Given the description of an element on the screen output the (x, y) to click on. 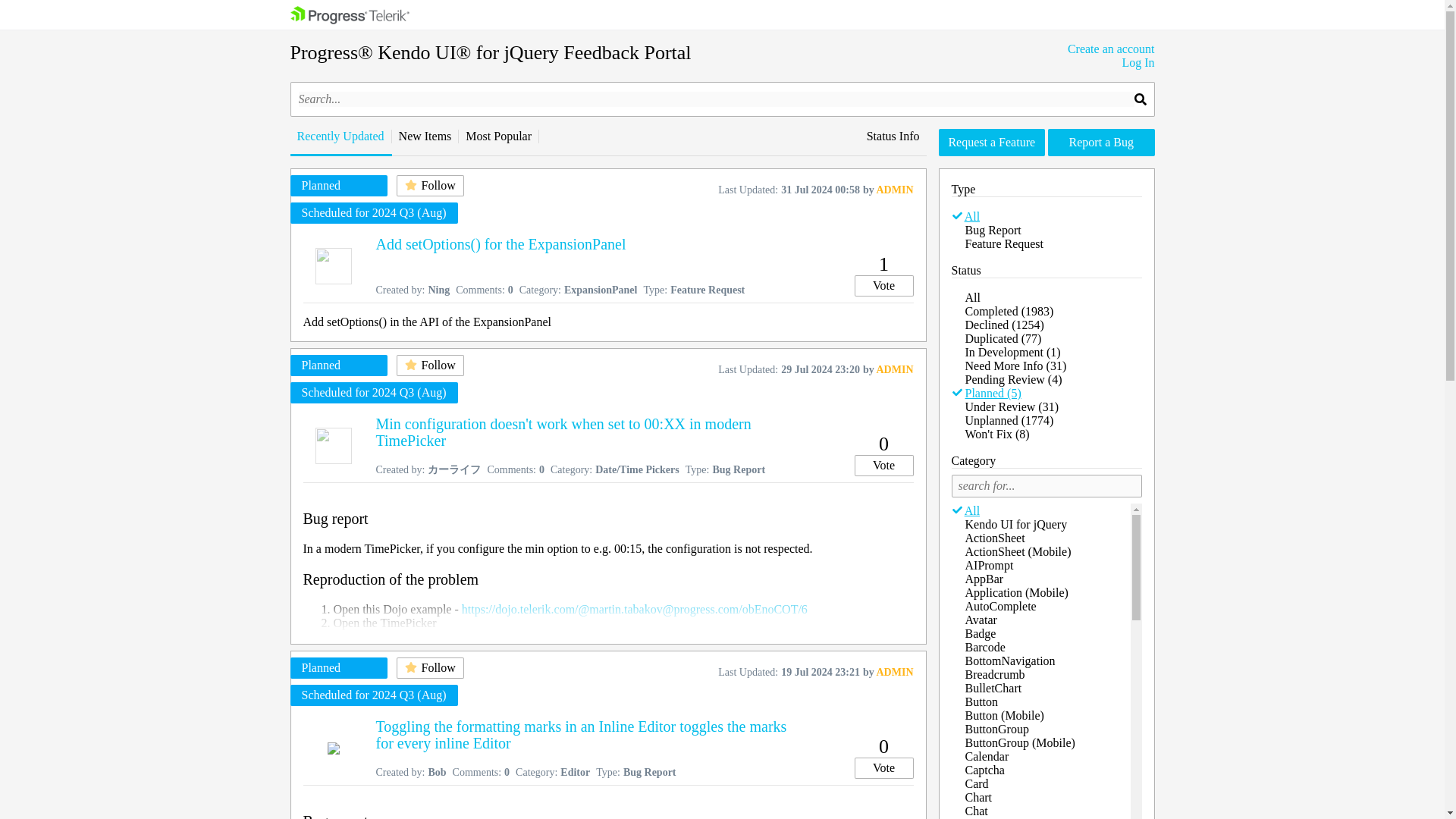
Request a Feature (992, 142)
Create an account (1110, 49)
Report a Bug (1101, 142)
Vote (882, 767)
Vote (882, 465)
Most Popular (498, 136)
Log In (1110, 62)
Vote (882, 285)
Recently Updated (340, 136)
Follow (429, 185)
Status Info (893, 136)
New Items (425, 136)
Follow (429, 667)
